Given the description of an element on the screen output the (x, y) to click on. 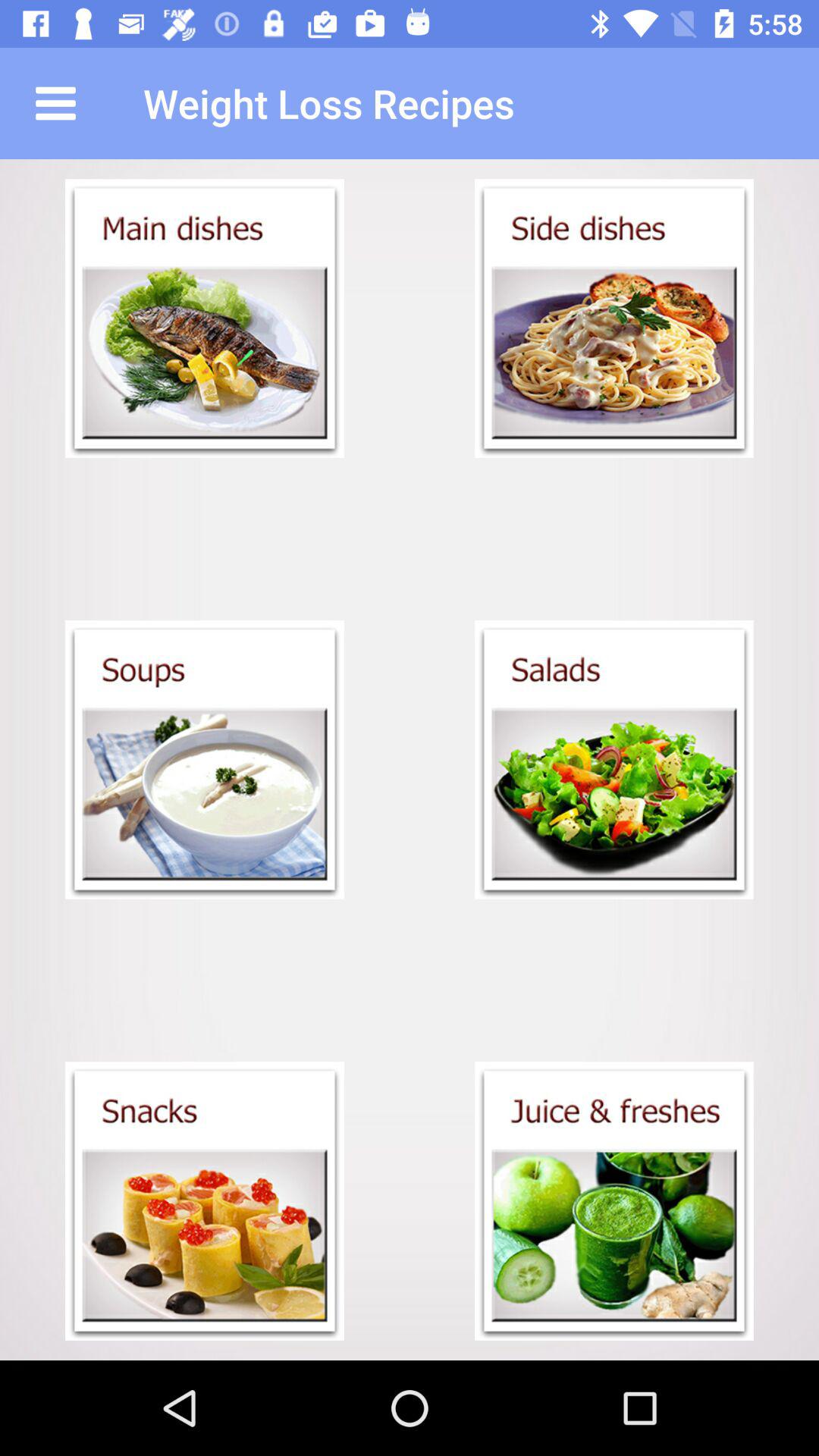
see available salads on the menue (614, 759)
